Given the description of an element on the screen output the (x, y) to click on. 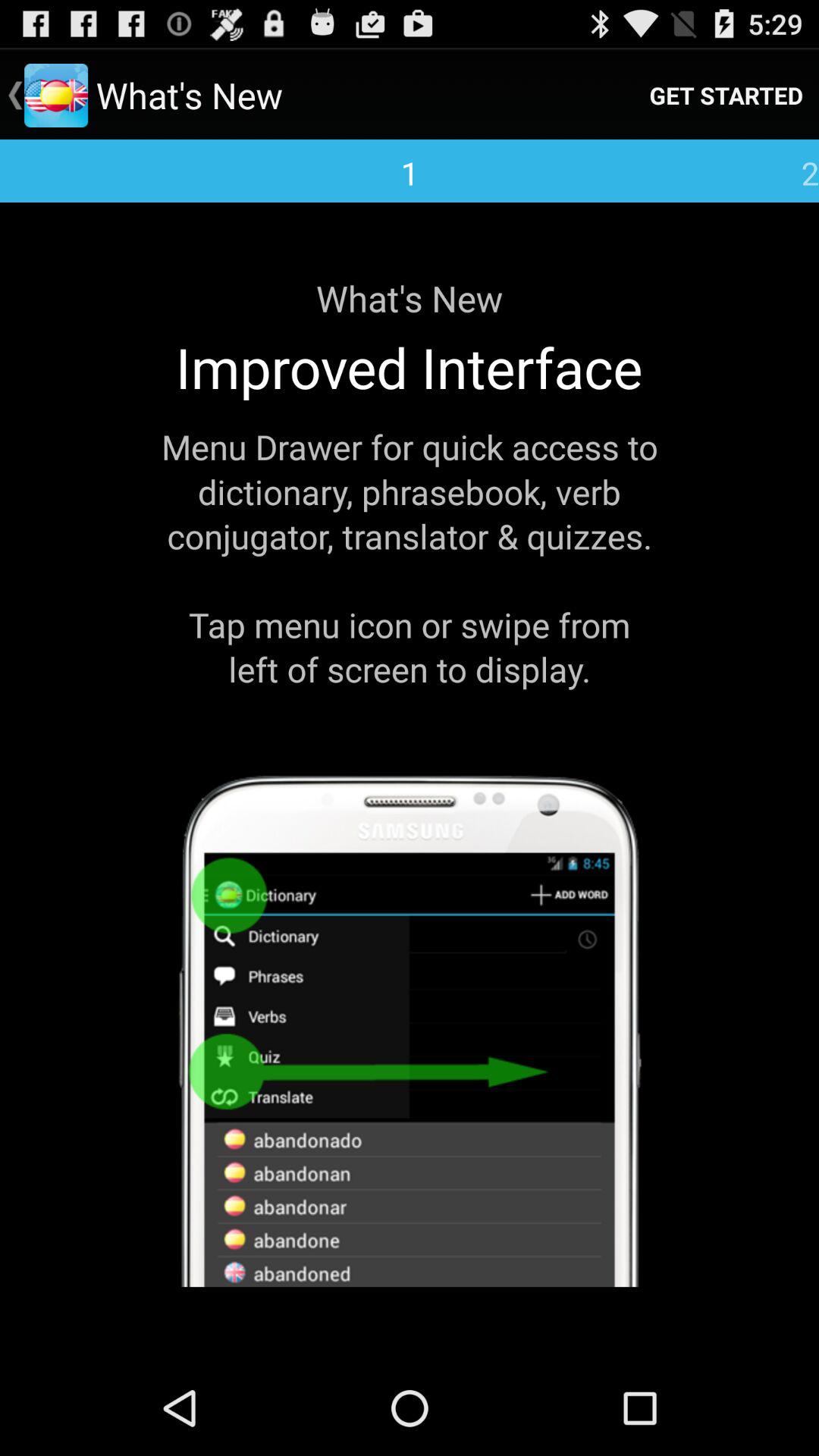
tap app next to the 1 (726, 95)
